Given the description of an element on the screen output the (x, y) to click on. 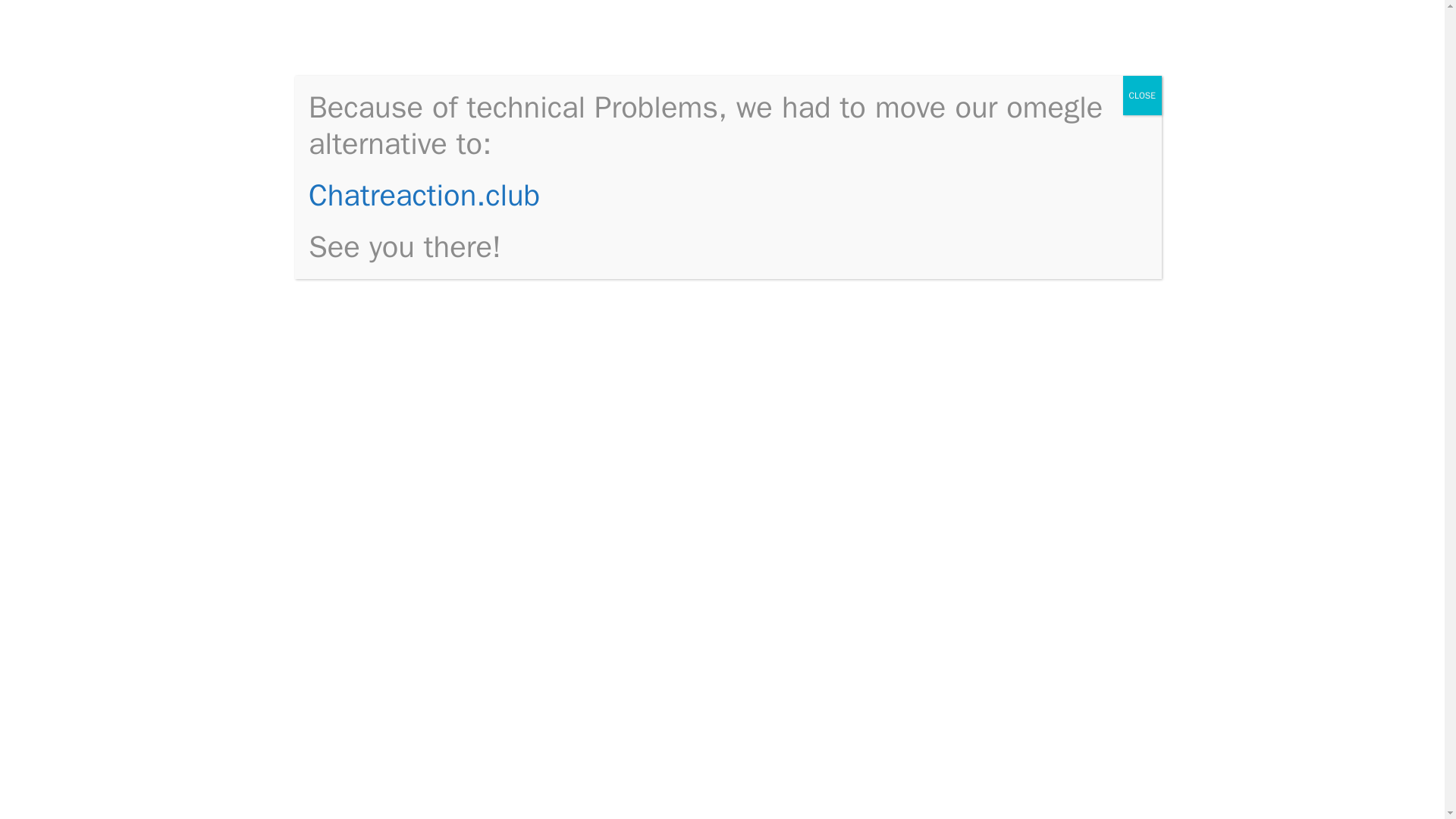
Chat rooms with profiles (410, 44)
Post Comment (391, 606)
